Given the description of an element on the screen output the (x, y) to click on. 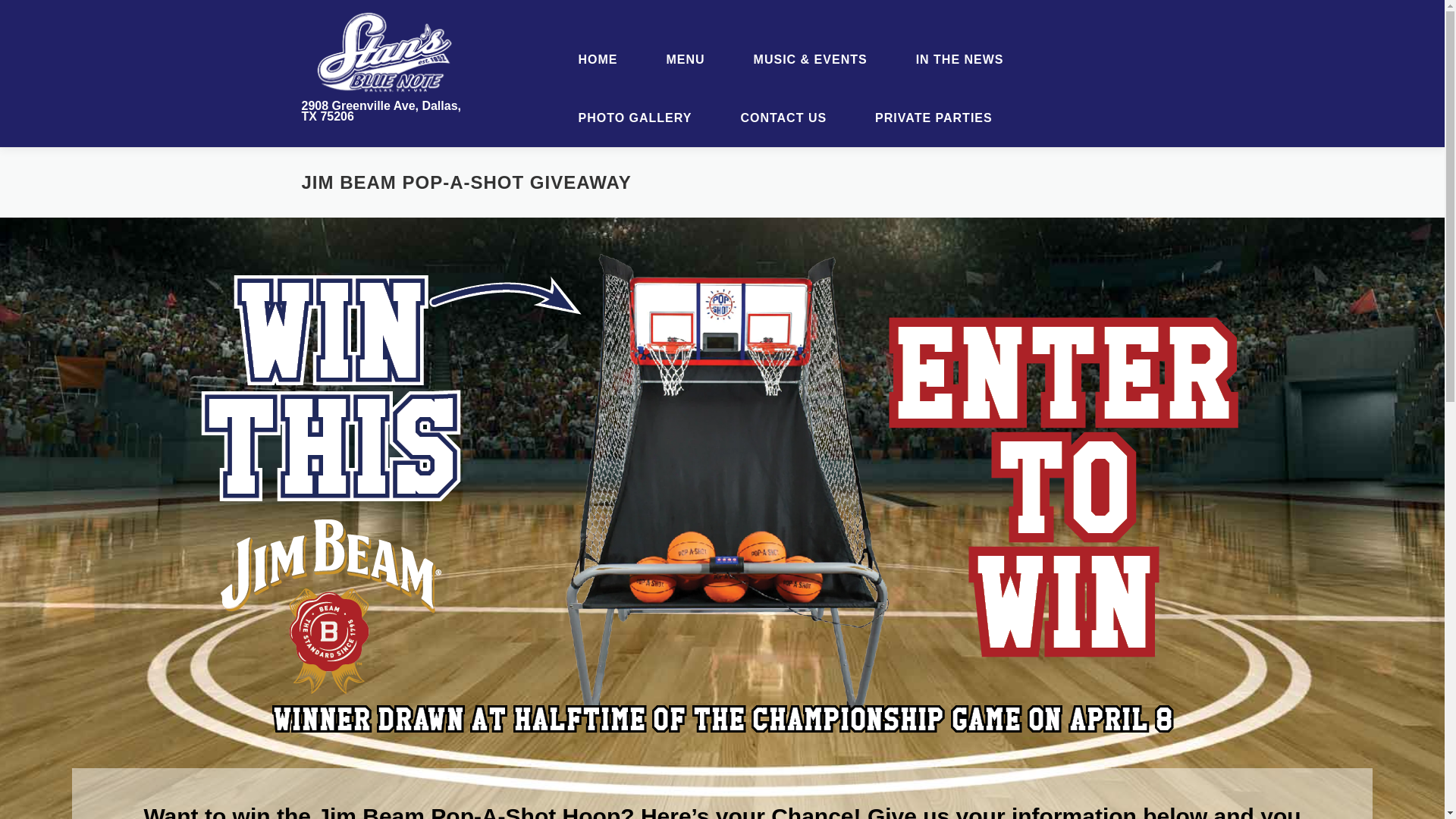
CONTACT US (783, 117)
HOME (597, 59)
IN THE NEWS (959, 59)
MENU (685, 59)
PHOTO GALLERY (634, 117)
PRIVATE PARTIES (928, 117)
